Given the description of an element on the screen output the (x, y) to click on. 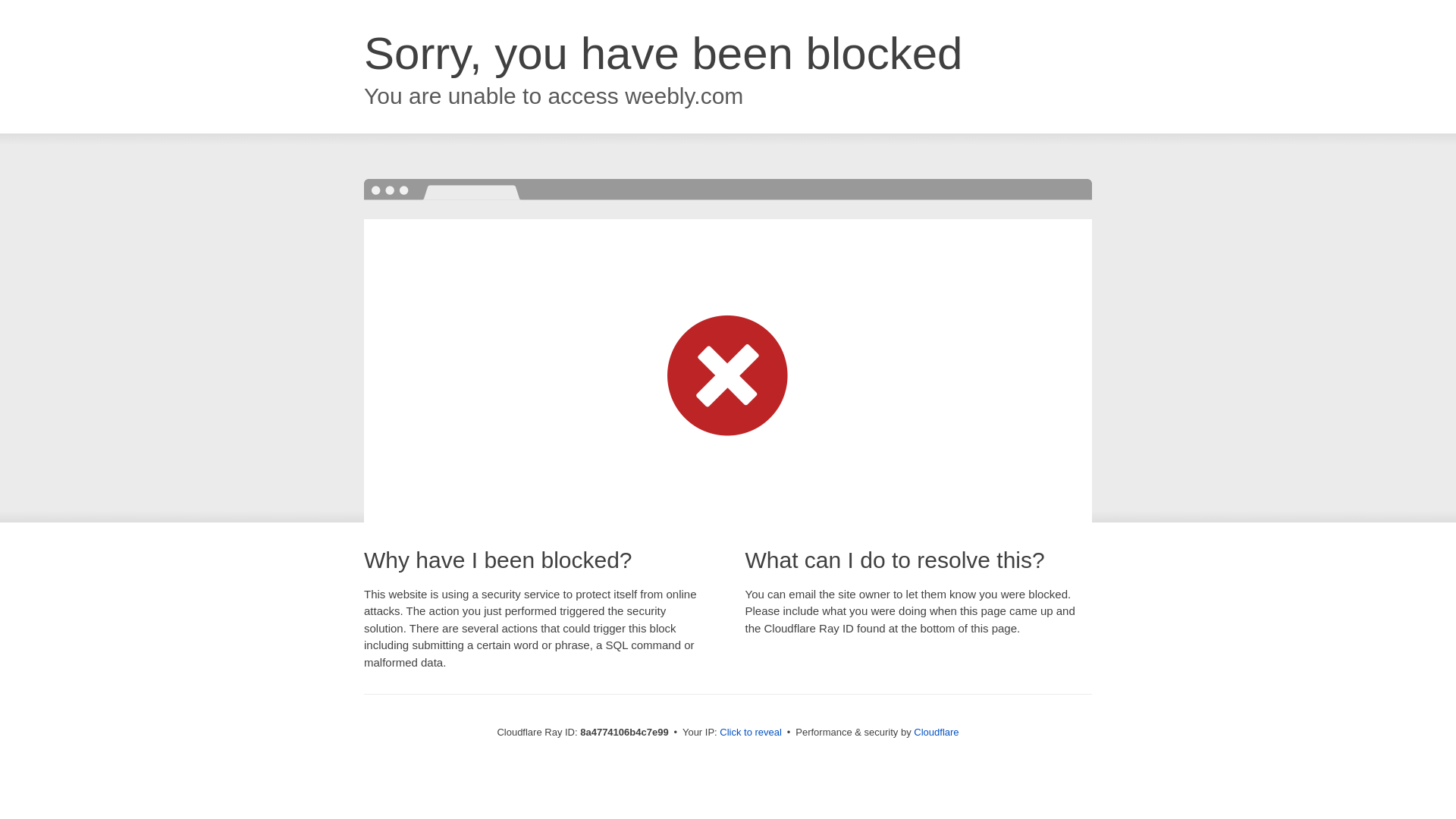
Click to reveal (750, 732)
Cloudflare (936, 731)
